Given the description of an element on the screen output the (x, y) to click on. 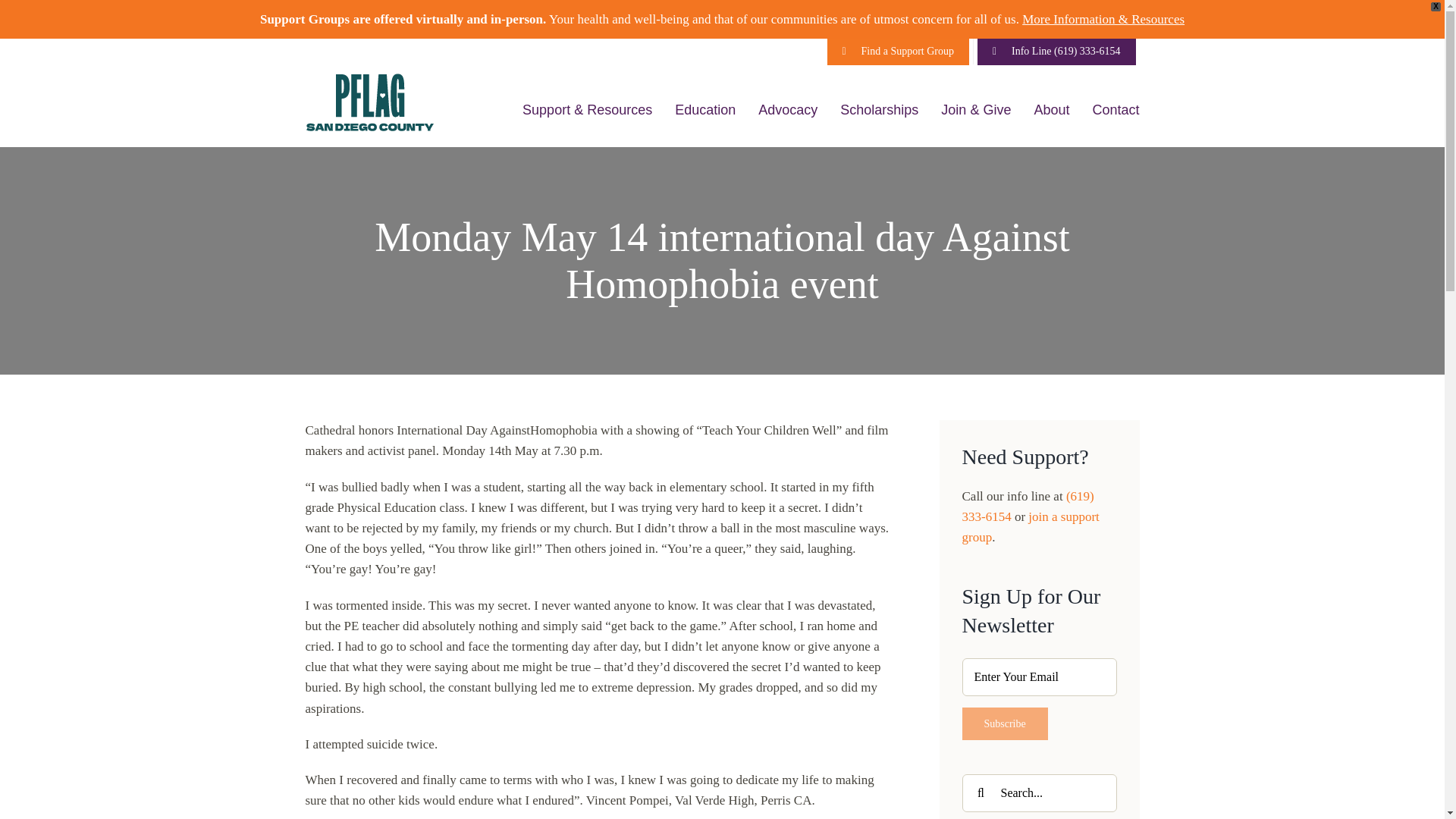
Scholarships (879, 109)
Find a Support Group (899, 51)
Subscribe (1003, 723)
